Given the description of an element on the screen output the (x, y) to click on. 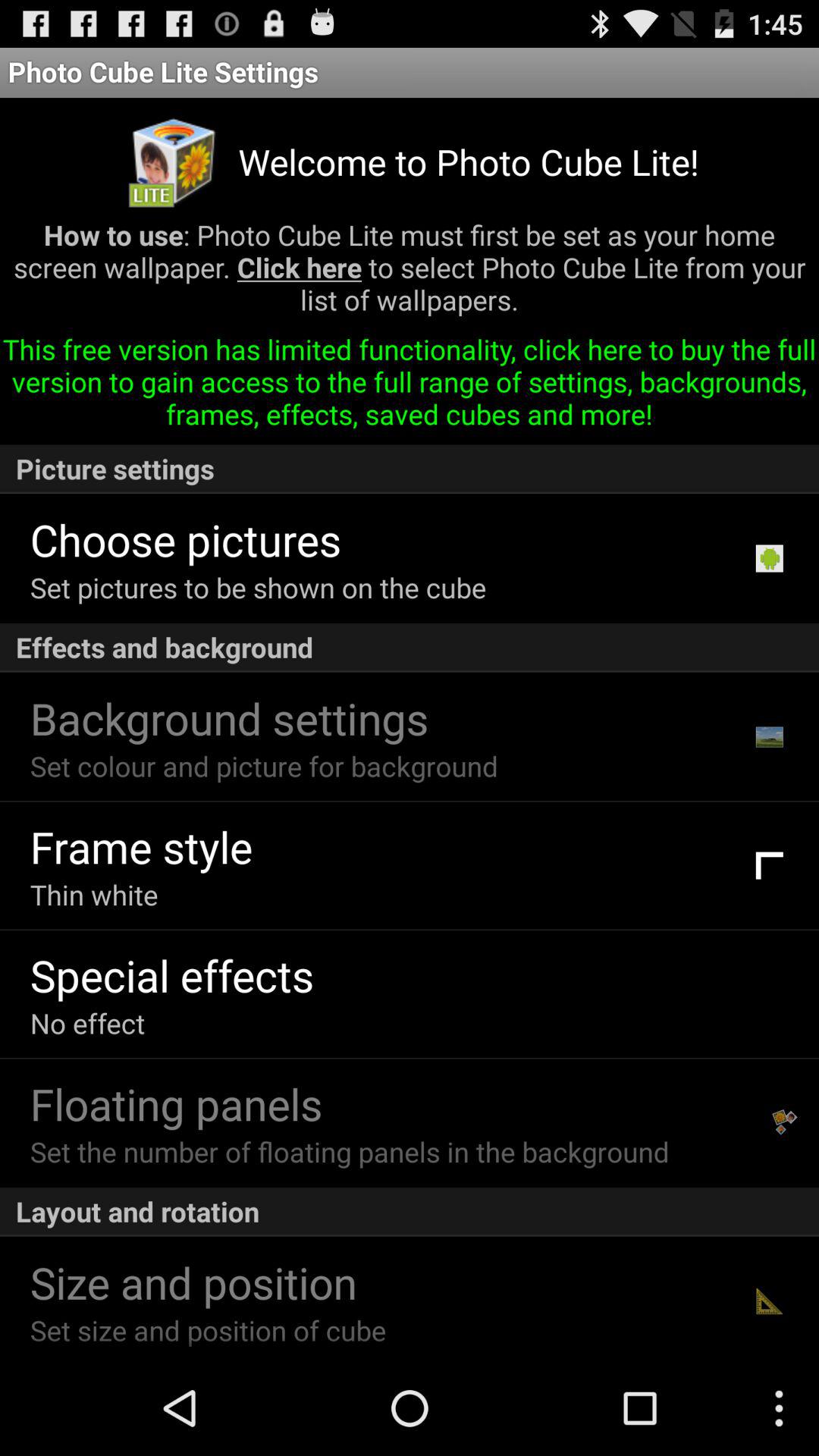
tap the icon below set the number (409, 1211)
